Given the description of an element on the screen output the (x, y) to click on. 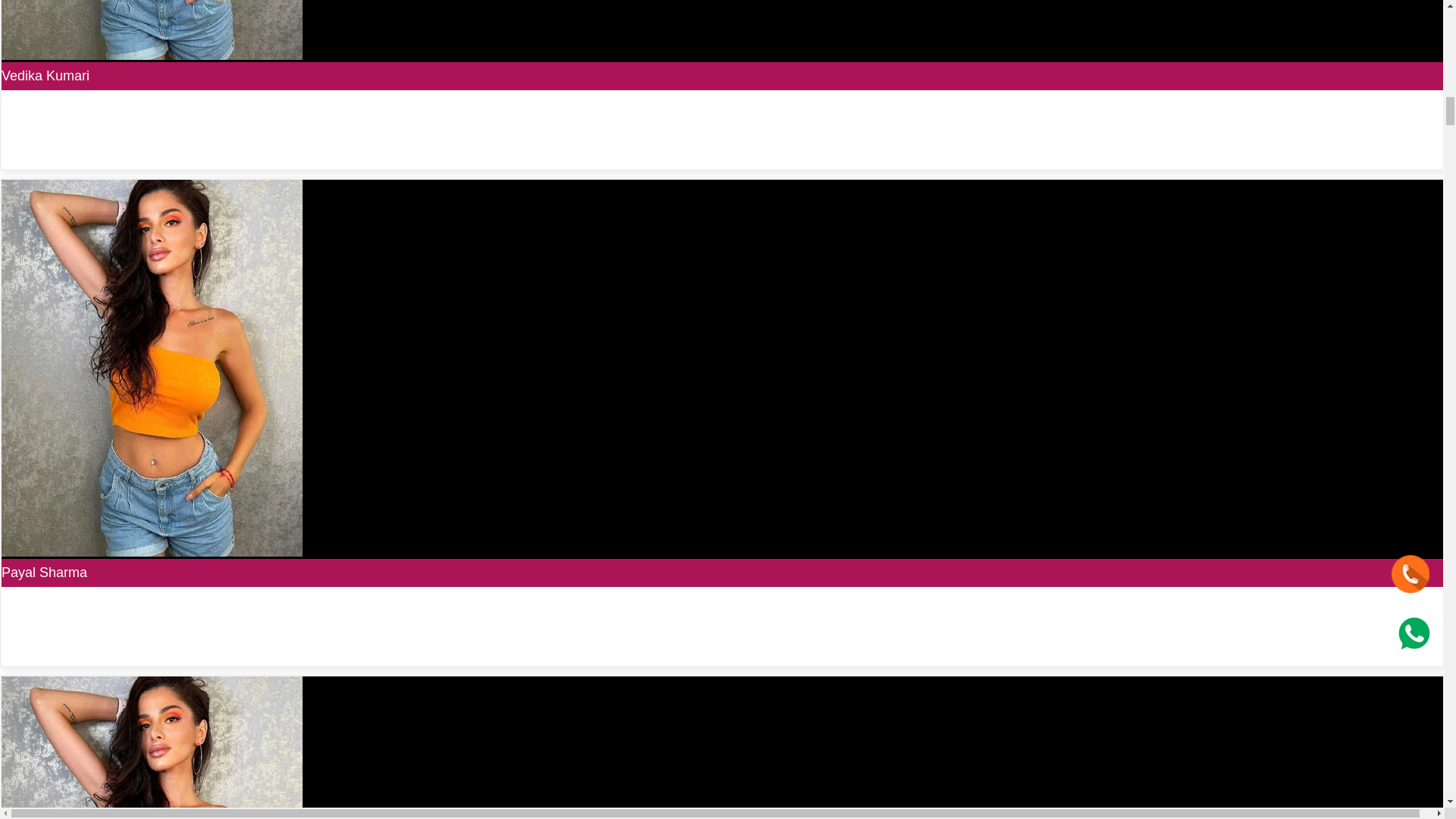
Payal Sharma (44, 572)
Vedika Kumari (44, 75)
